Given the description of an element on the screen output the (x, y) to click on. 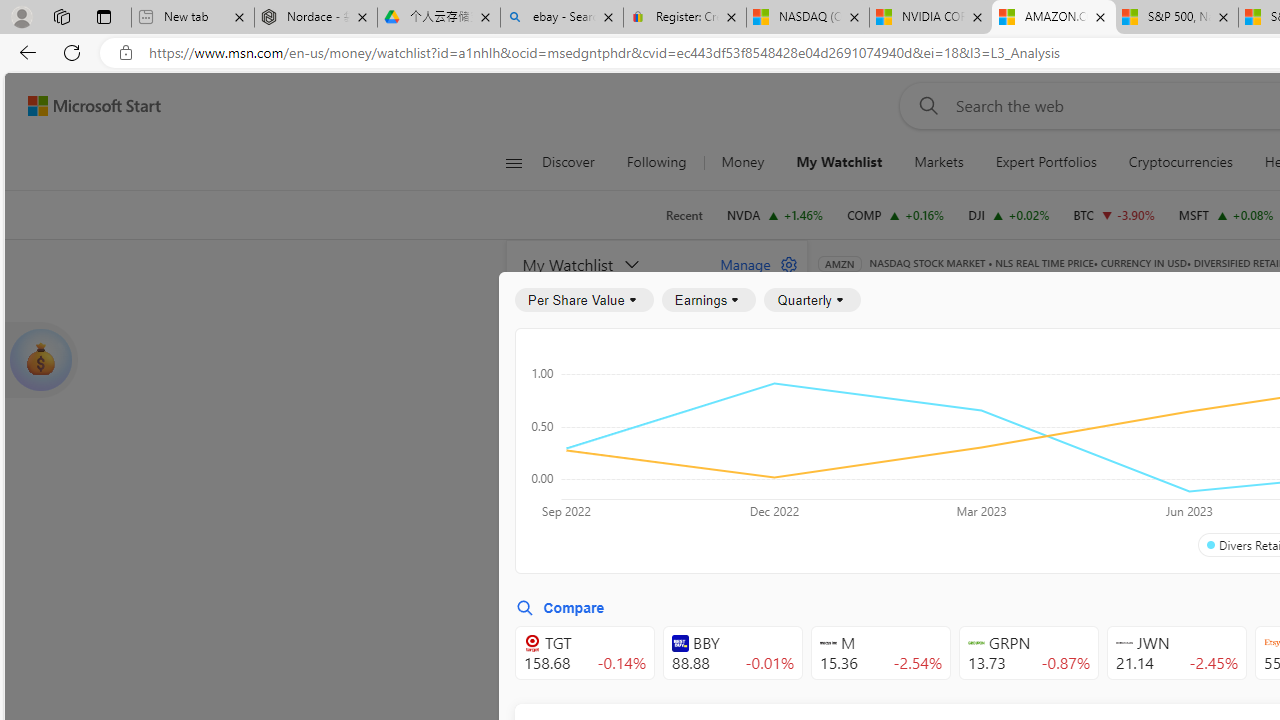
Skip to footer (82, 105)
View site information (125, 53)
Markets (939, 162)
Manage (751, 264)
Refresh (72, 52)
Watchlist (1152, 291)
ebay - Search (561, 17)
Expert Portfolios (1045, 162)
All (842, 445)
COMP NASDAQ increase 17,754.82 +29.06 +0.16% (895, 214)
Income Statement (968, 391)
